Given the description of an element on the screen output the (x, y) to click on. 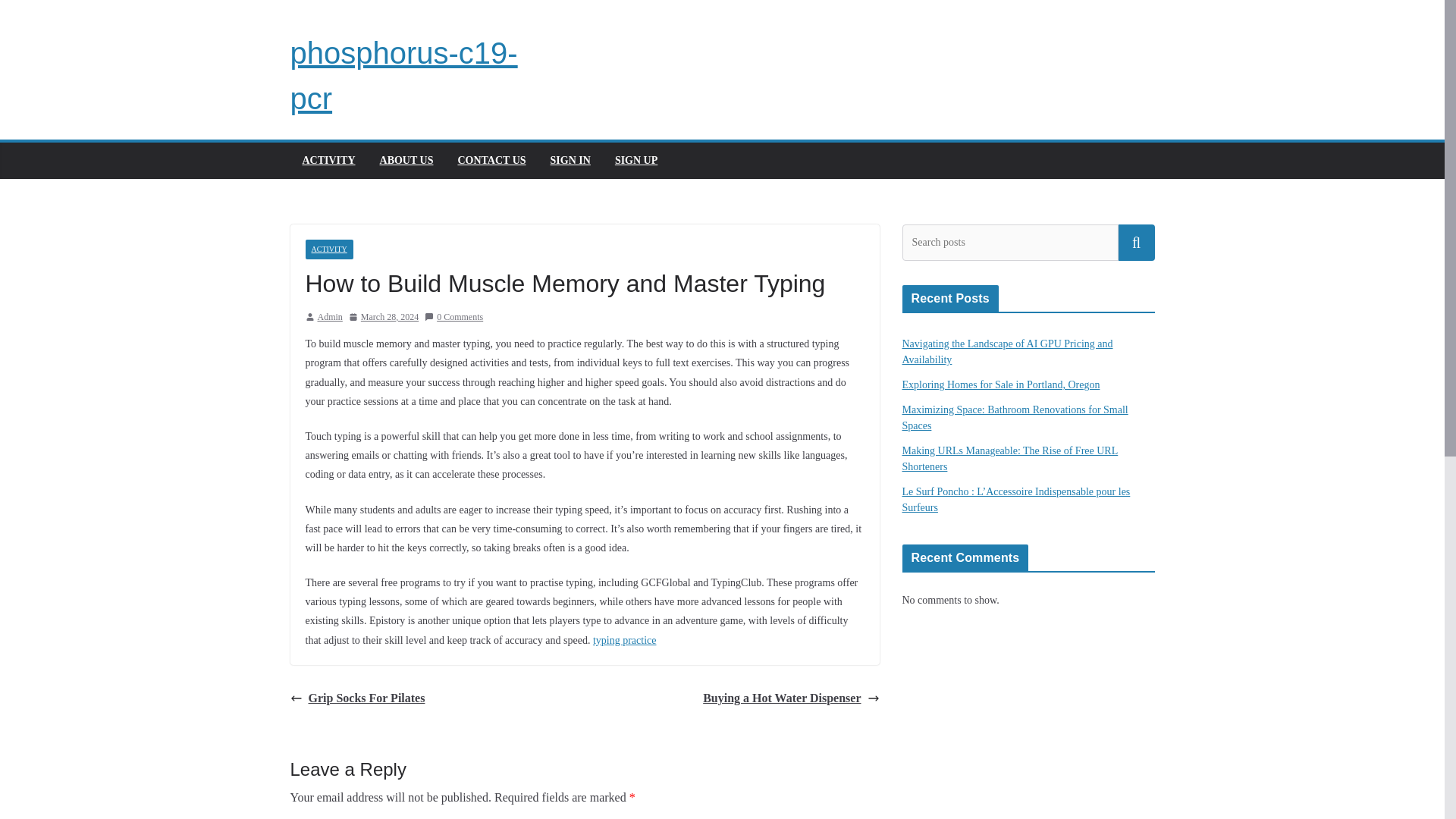
8:51 am (384, 317)
Making URLs Manageable: The Rise of Free URL Shorteners (1010, 458)
Admin (329, 317)
CONTACT US (491, 160)
ABOUT US (406, 160)
Maximizing Space: Bathroom Renovations for Small Spaces (1015, 417)
Search (1136, 242)
typing practice (624, 640)
Navigating the Landscape of AI GPU Pricing and Availability (1007, 351)
Grip Socks For Pilates (357, 698)
Admin (329, 317)
ACTIVITY (328, 160)
phosphorus-c19-pcr (402, 75)
phosphorus-c19-pcr (402, 75)
0 Comments (454, 317)
